Given the description of an element on the screen output the (x, y) to click on. 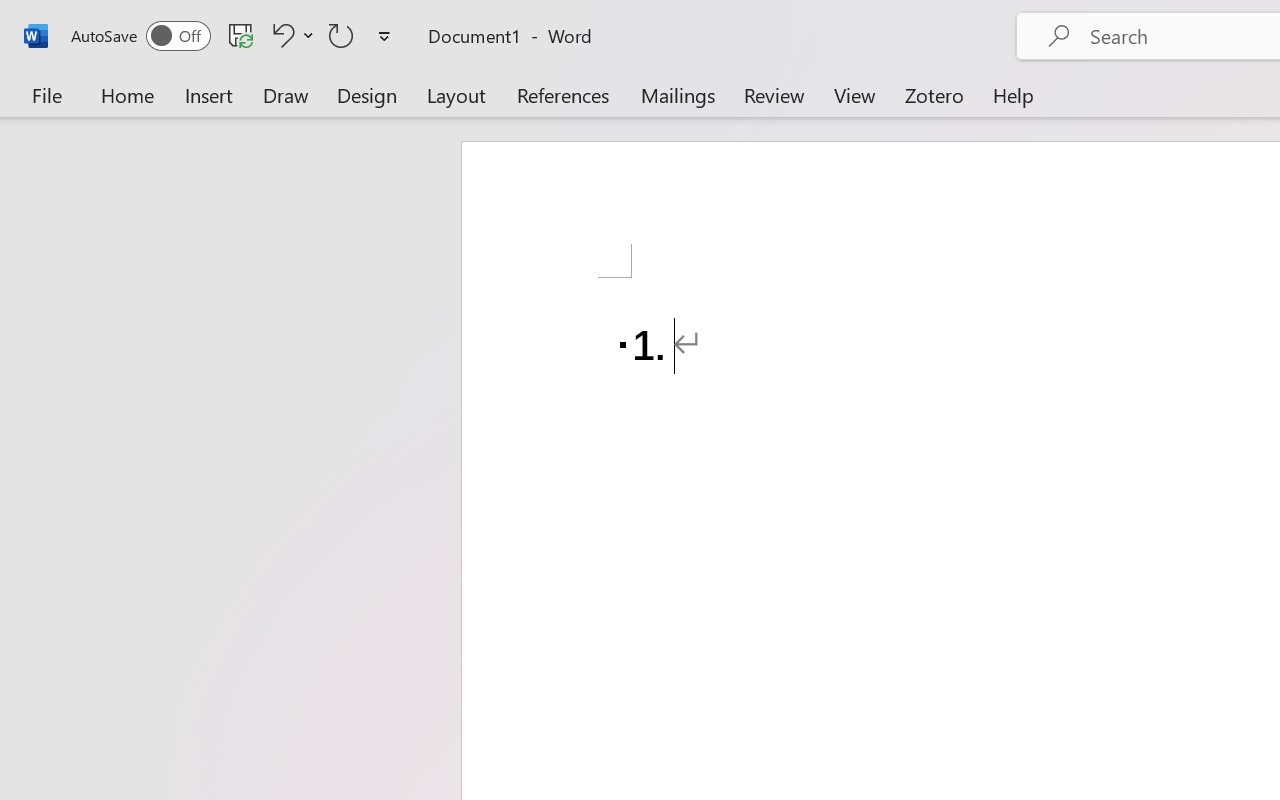
Repeat Doc Close (341, 35)
Undo Number Default (290, 35)
